Given the description of an element on the screen output the (x, y) to click on. 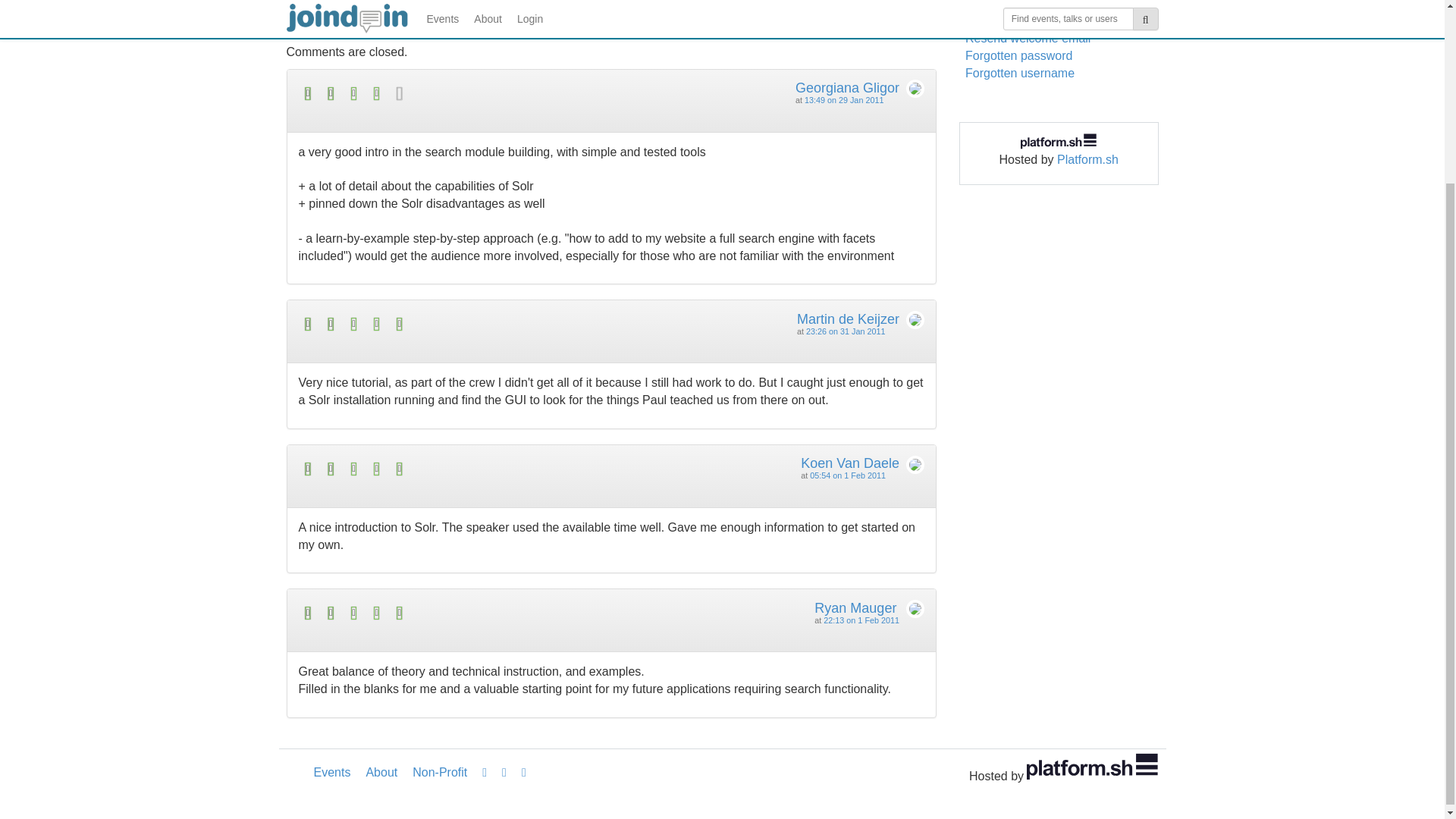
About (381, 772)
or register now (1062, 0)
Log in (989, 0)
23:26 on 31 Jan 2011 (845, 330)
Georgiana Gligor (846, 87)
Ryan Mauger (854, 607)
Martin de Keijzer (847, 319)
Platform.sh (1087, 159)
Rated 5 (454, 323)
Non-Profit (439, 772)
